Given the description of an element on the screen output the (x, y) to click on. 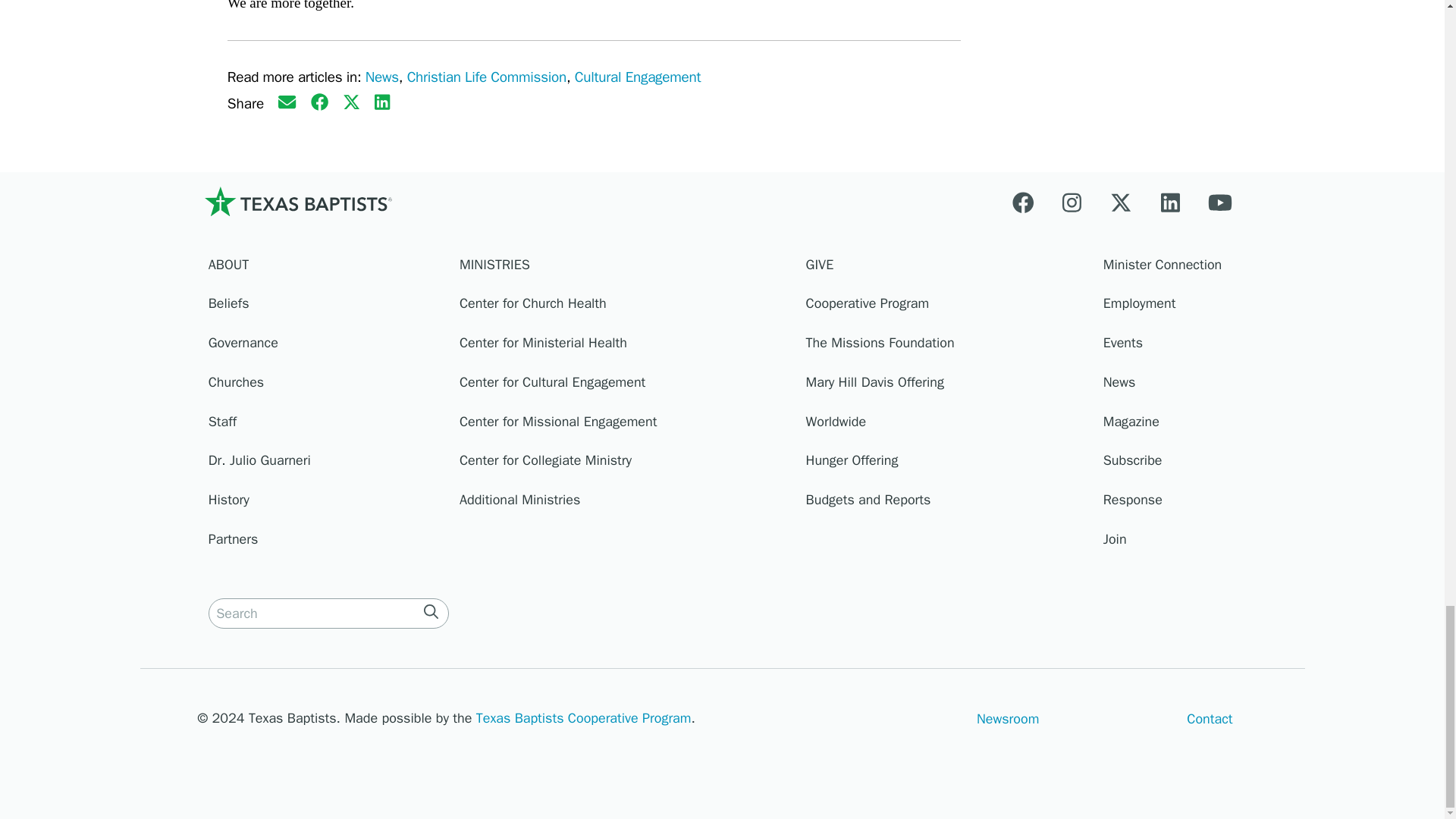
Home (297, 201)
Beliefs (326, 307)
ABOUT (326, 268)
News (381, 76)
Cultural Engagement (637, 76)
Christian Life Commission (486, 76)
